Given the description of an element on the screen output the (x, y) to click on. 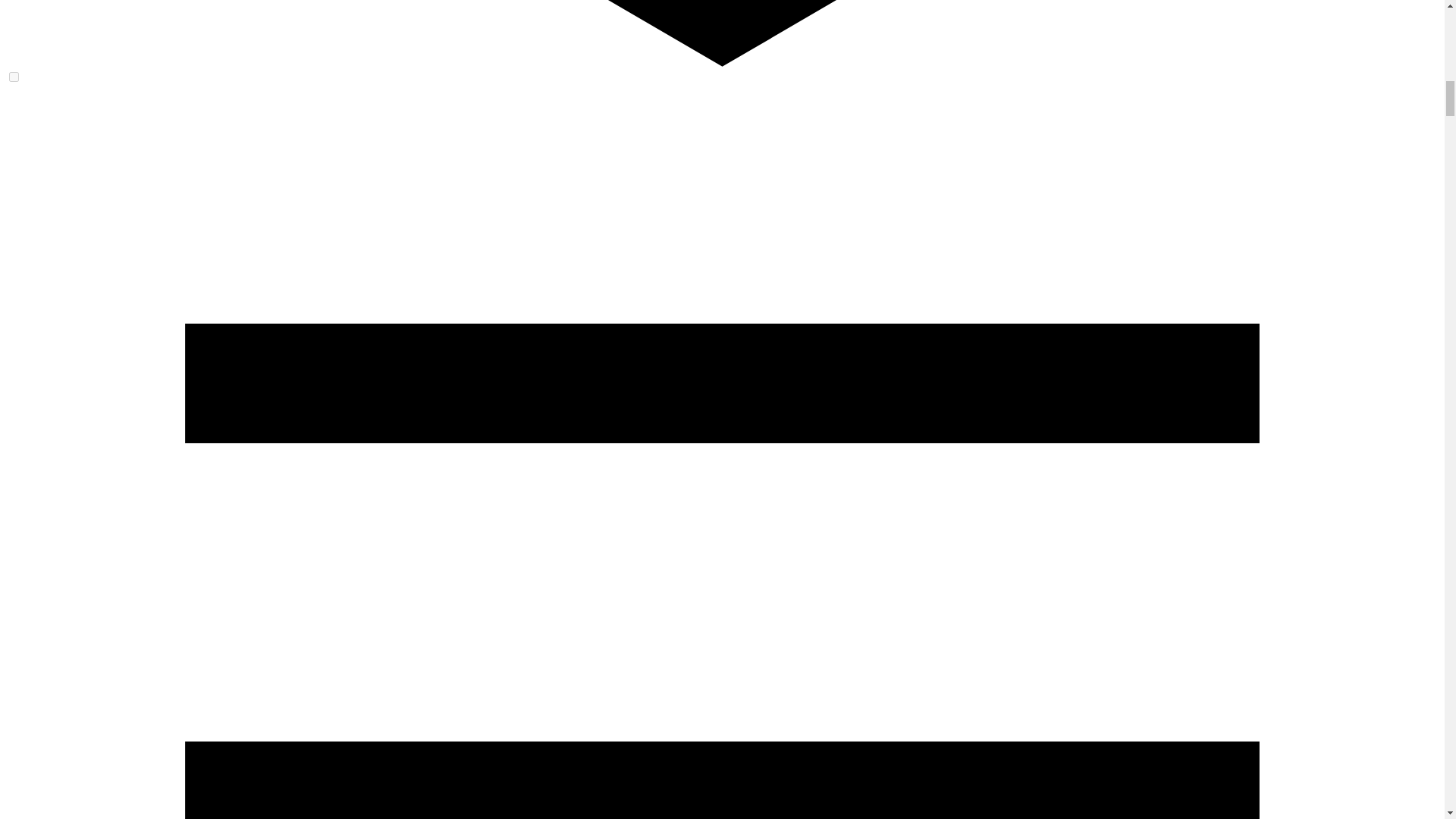
on (13, 76)
